Given the description of an element on the screen output the (x, y) to click on. 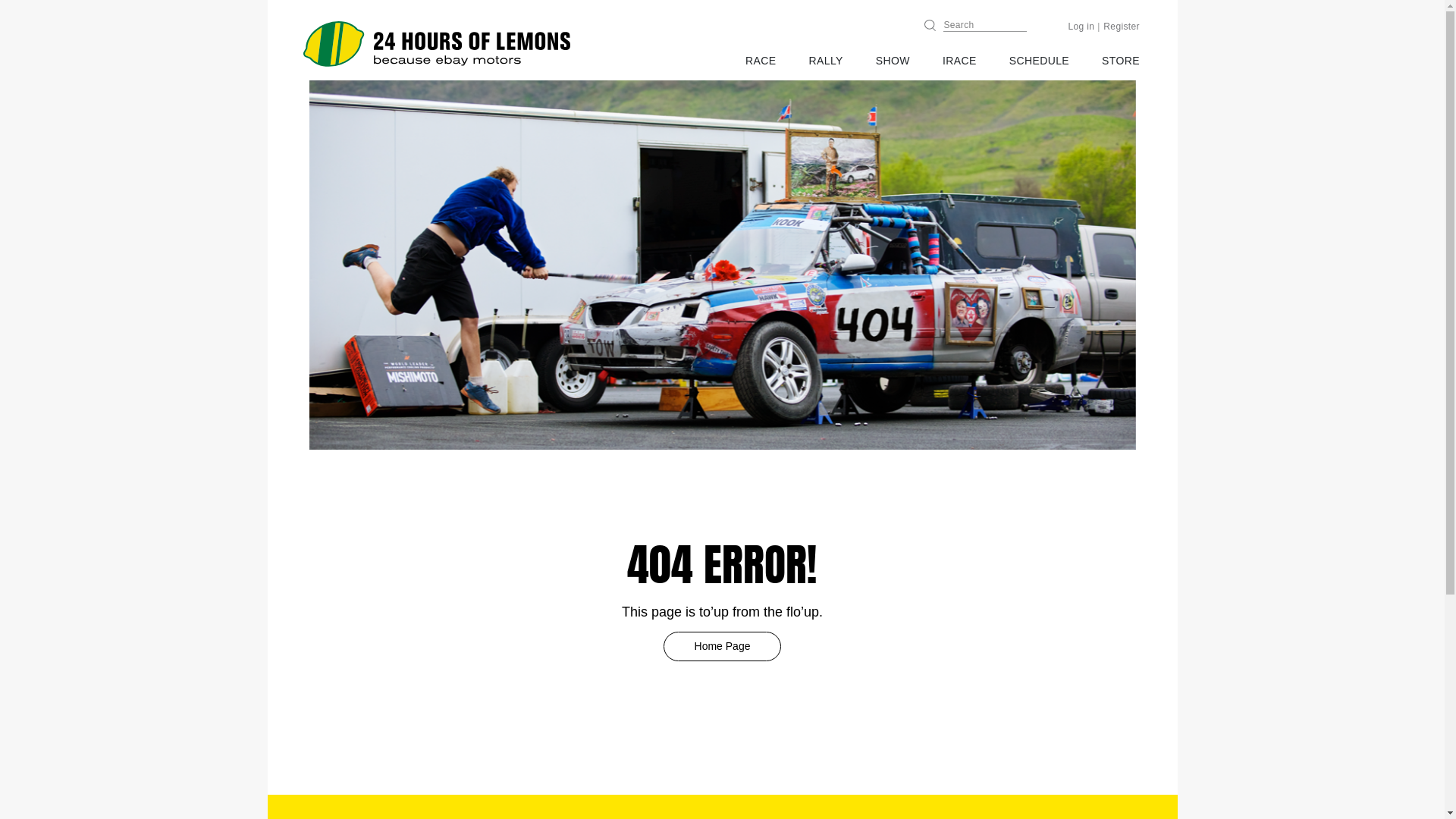
Home Page Element type: text (722, 646)
STORE Element type: text (1120, 60)
RACE Element type: text (760, 60)
Register Element type: text (1121, 26)
SHOW Element type: text (892, 60)
IRACE Element type: text (959, 60)
RALLY Element type: text (825, 60)
SCHEDULE Element type: text (1038, 60)
Log in Element type: text (1080, 26)
